Given the description of an element on the screen output the (x, y) to click on. 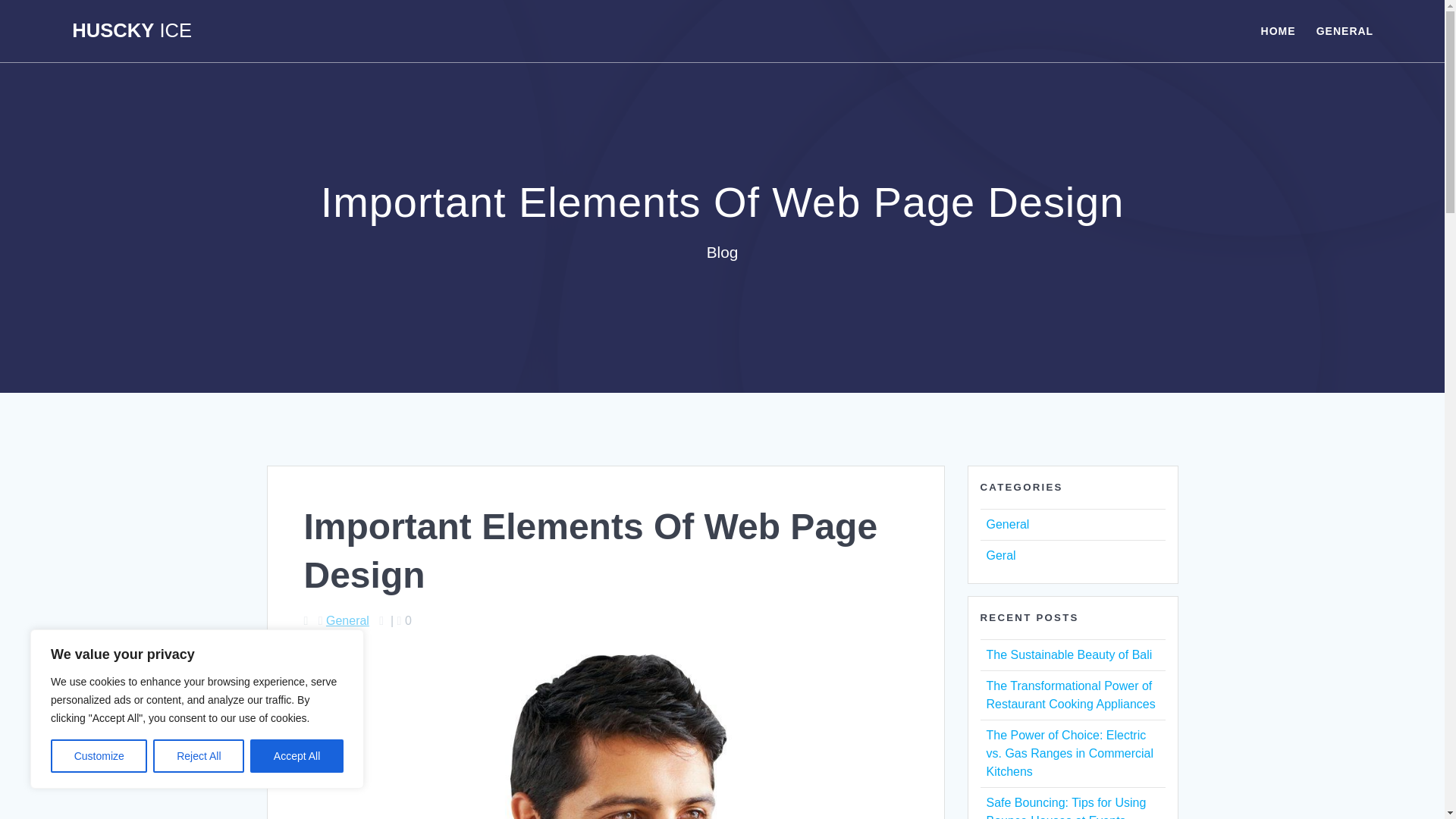
Accept All (296, 756)
General (1007, 523)
Safe Bouncing: Tips for Using Bounce Houses at Events (1065, 807)
The Transformational Power of Restaurant Cooking Appliances (1069, 694)
GENERAL (1344, 30)
Customize (98, 756)
HUSCKY ICE (131, 30)
Reject All (198, 756)
Geral (999, 554)
